Given the description of an element on the screen output the (x, y) to click on. 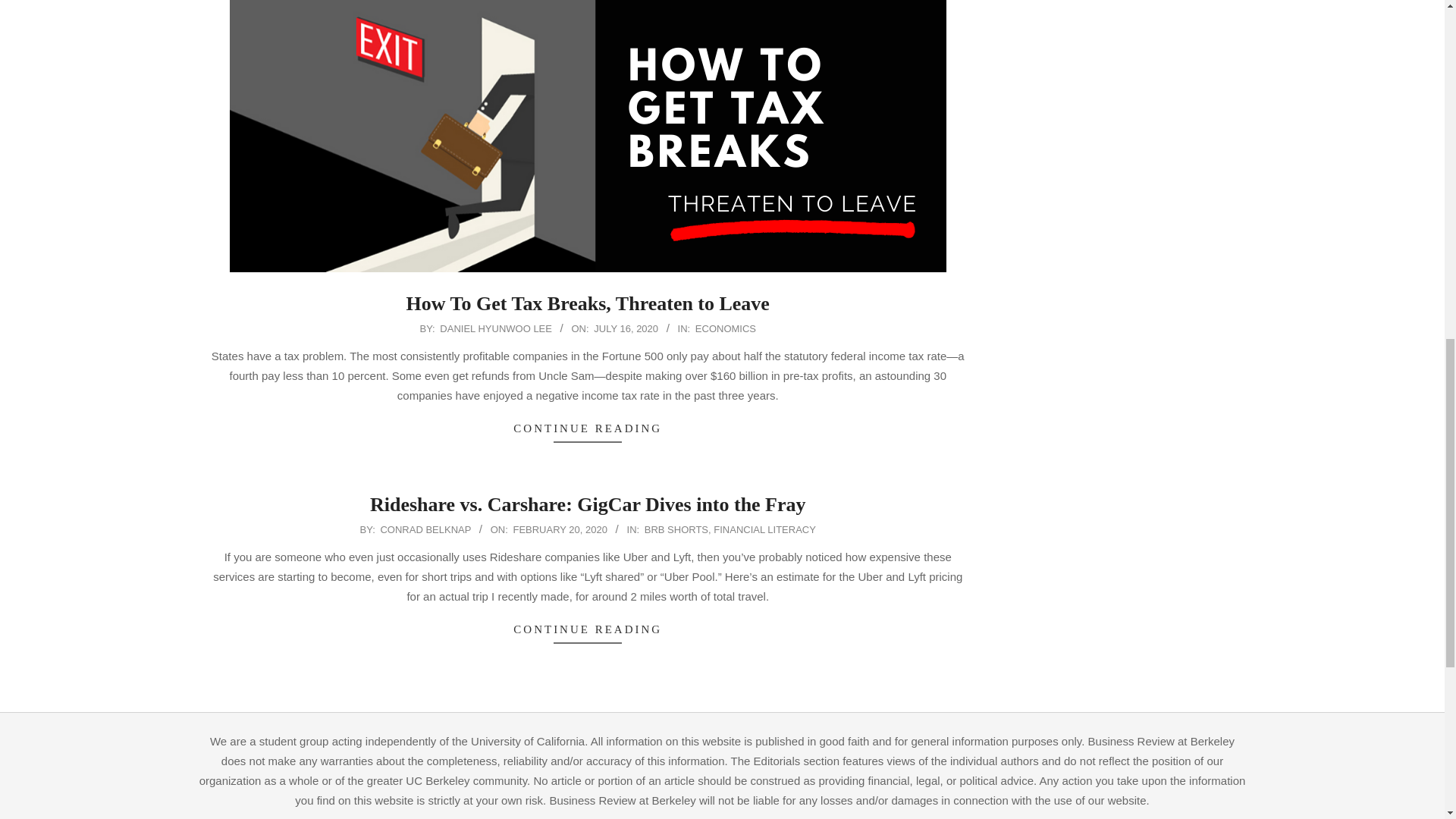
Posts by Daniel Hyunwoo Lee (495, 328)
CONTINUE READING (587, 630)
FINANCIAL LITERACY (764, 529)
Thursday, July 16, 2020, 6:00 am (626, 328)
Thursday, February 20, 2020, 11:22 pm (559, 529)
DANIEL HYUNWOO LEE (495, 328)
How To Get Tax Breaks, Threaten to Leave (588, 303)
CONRAD BELKNAP (425, 529)
BRB SHORTS (676, 529)
Rideshare vs. Carshare: GigCar Dives into the Fray (587, 504)
Posts by Conrad Belknap (425, 529)
CONTINUE READING (587, 428)
ECONOMICS (725, 328)
